Given the description of an element on the screen output the (x, y) to click on. 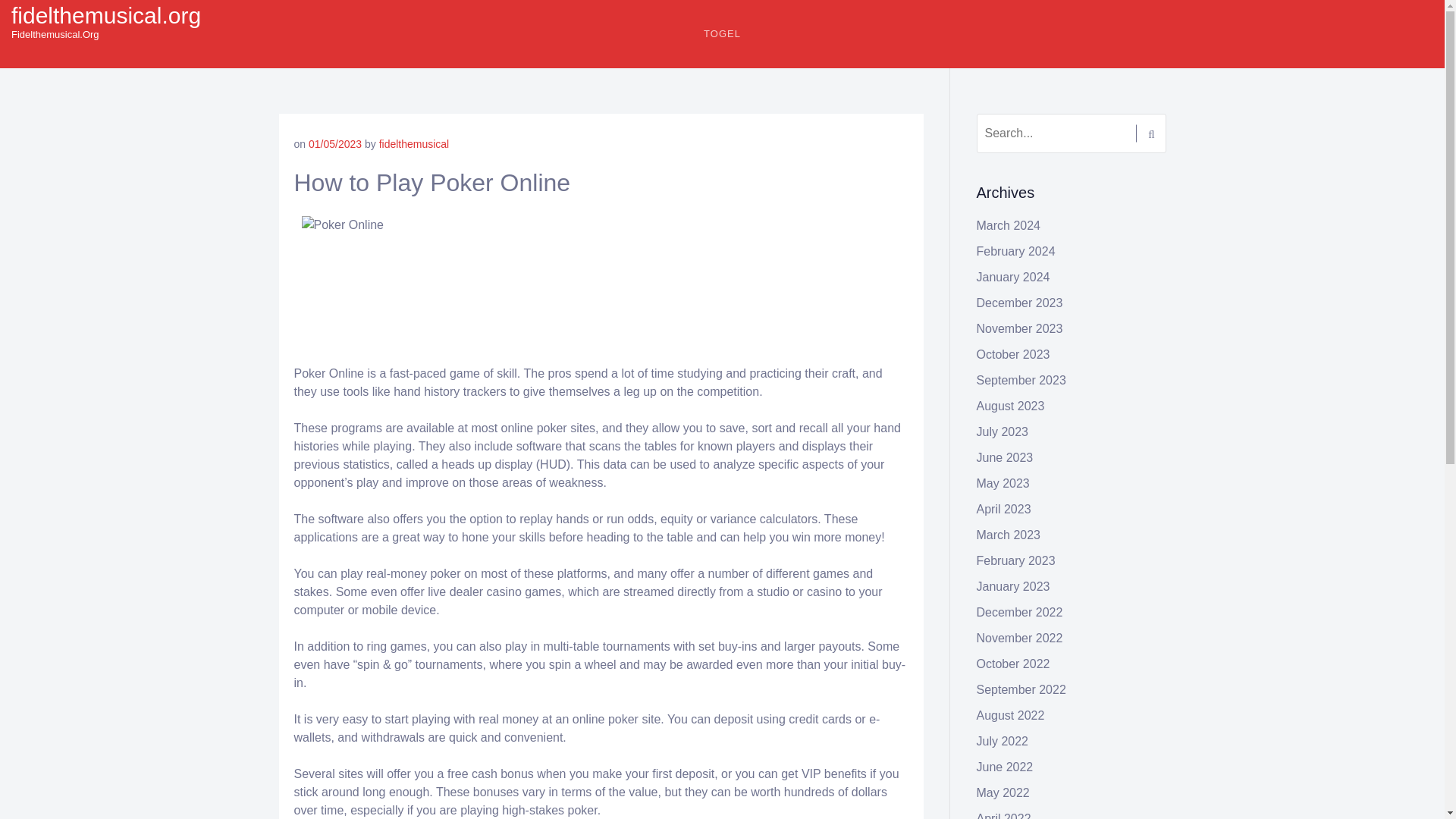
February 2023 (1015, 560)
January 2024 (1012, 277)
June 2022 (1004, 766)
May 2022 (1002, 792)
August 2022 (1010, 715)
March 2024 (1008, 225)
February 2024 (1015, 250)
July 2022 (1002, 740)
fidelthemusical.org (105, 15)
April 2022 (1003, 815)
July 2023 (1002, 431)
November 2023 (1019, 328)
May 2023 (1002, 482)
December 2023 (1019, 302)
September 2022 (1020, 689)
